Given the description of an element on the screen output the (x, y) to click on. 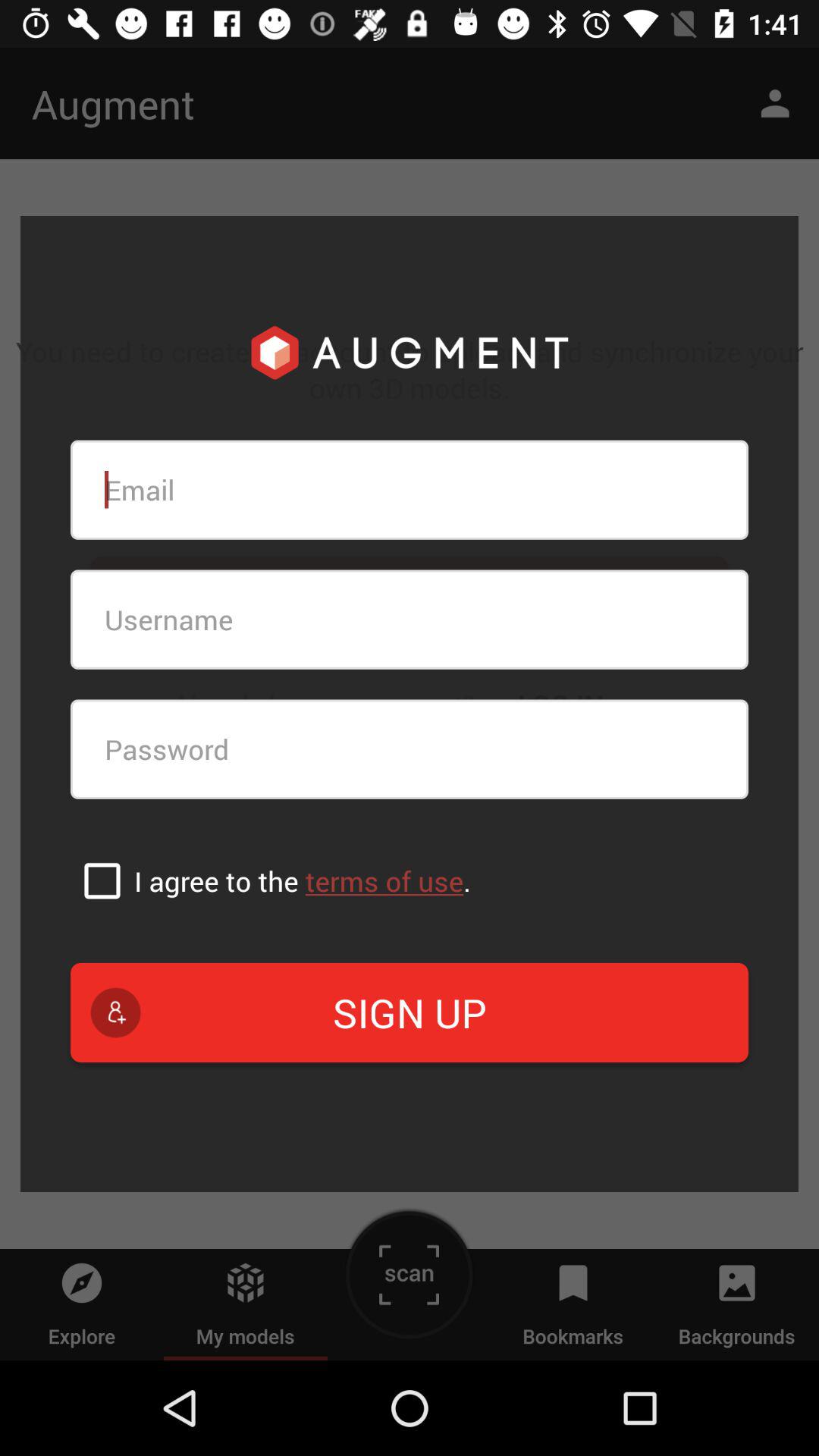
agree to terms (102, 880)
